Given the description of an element on the screen output the (x, y) to click on. 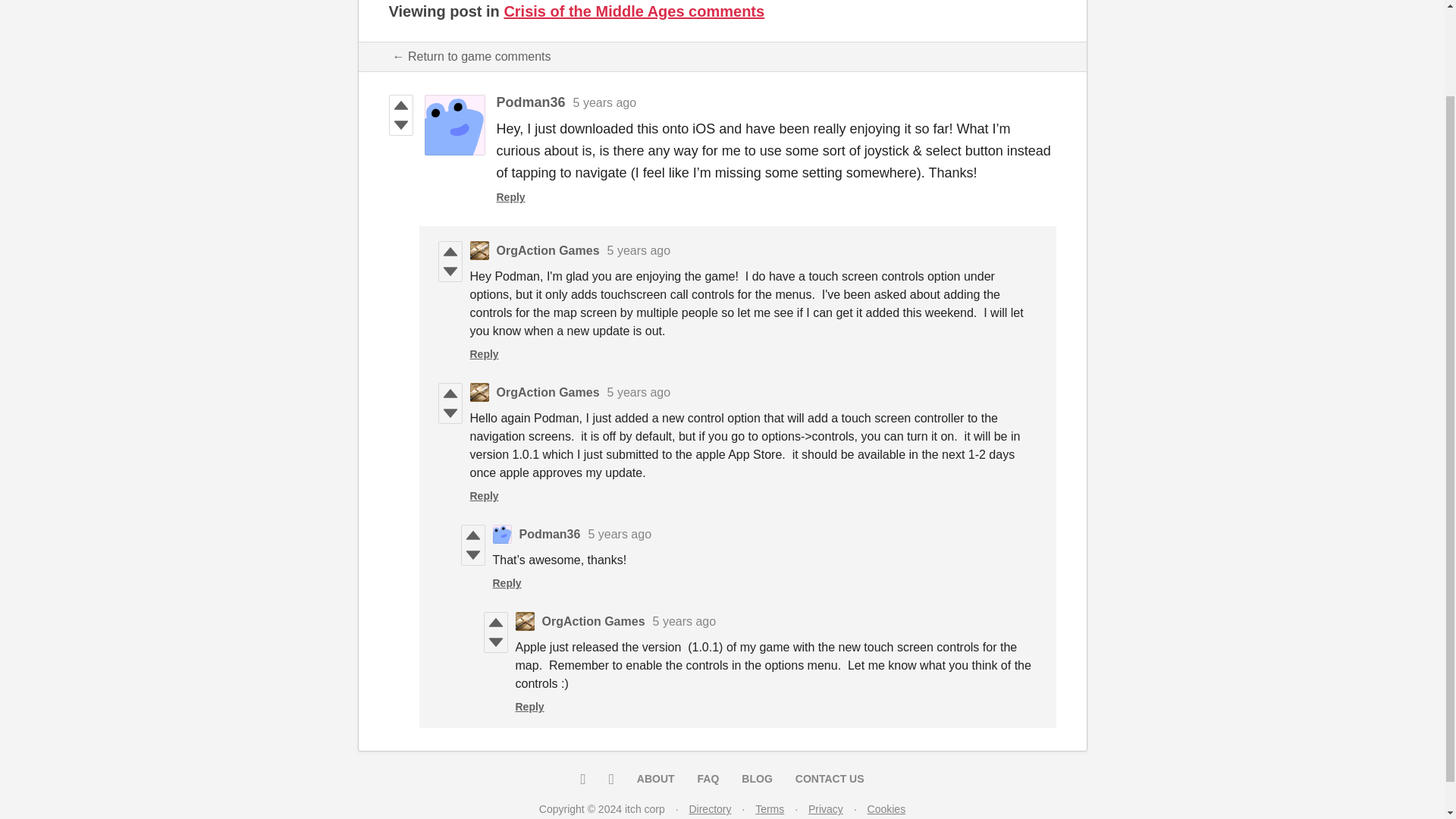
Vote down (449, 271)
5 years ago (605, 102)
2019-05-19 22:09:30 (639, 391)
Vote up (401, 105)
2019-05-20 02:43:29 (619, 533)
2019-05-17 17:05:00 (639, 250)
OrgAction Games (547, 391)
Vote down (472, 555)
Vote down (494, 641)
2019-05-20 22:51:15 (684, 621)
